Given the description of an element on the screen output the (x, y) to click on. 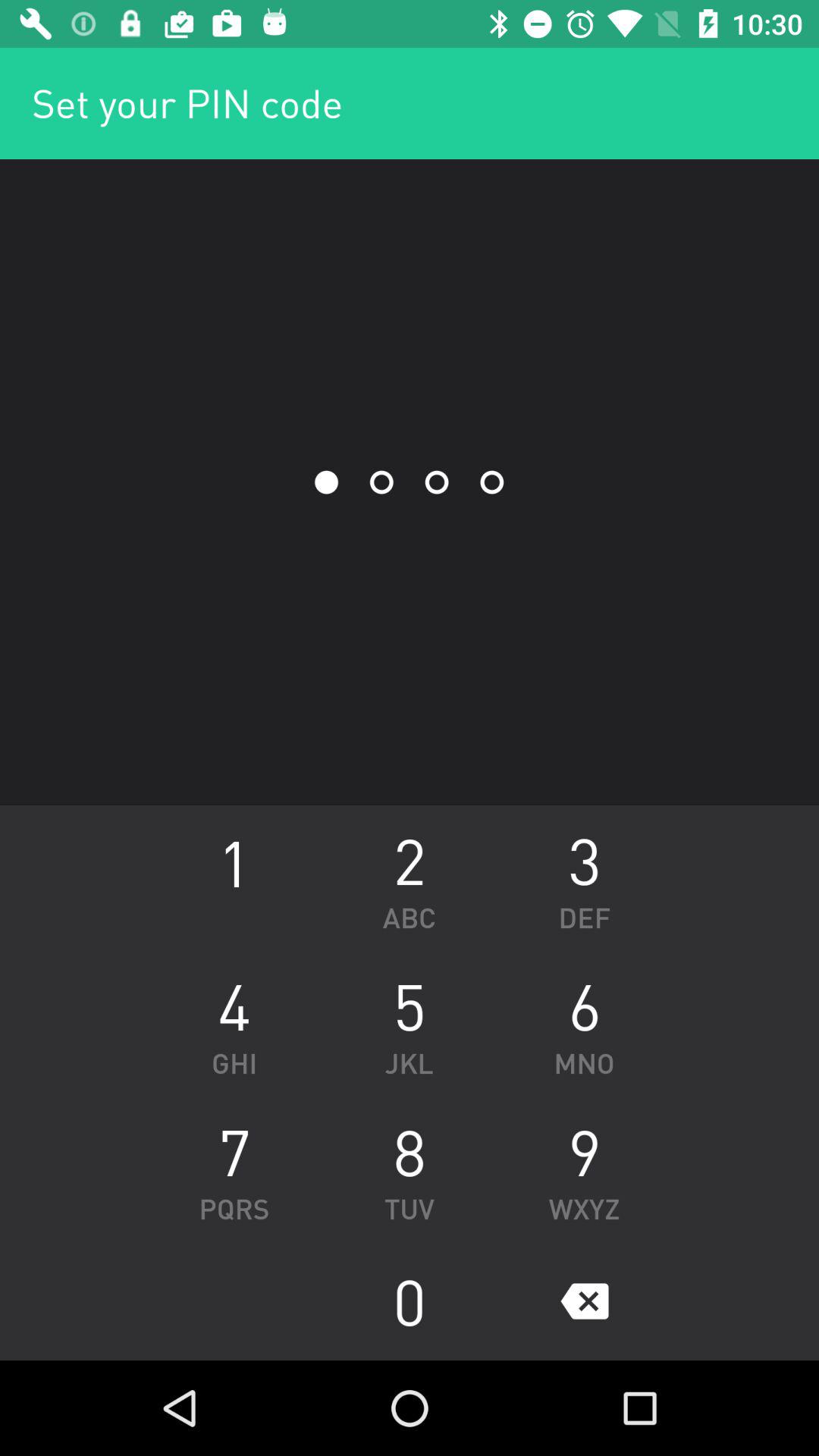
turn off icon below wxyz (584, 1301)
